Given the description of an element on the screen output the (x, y) to click on. 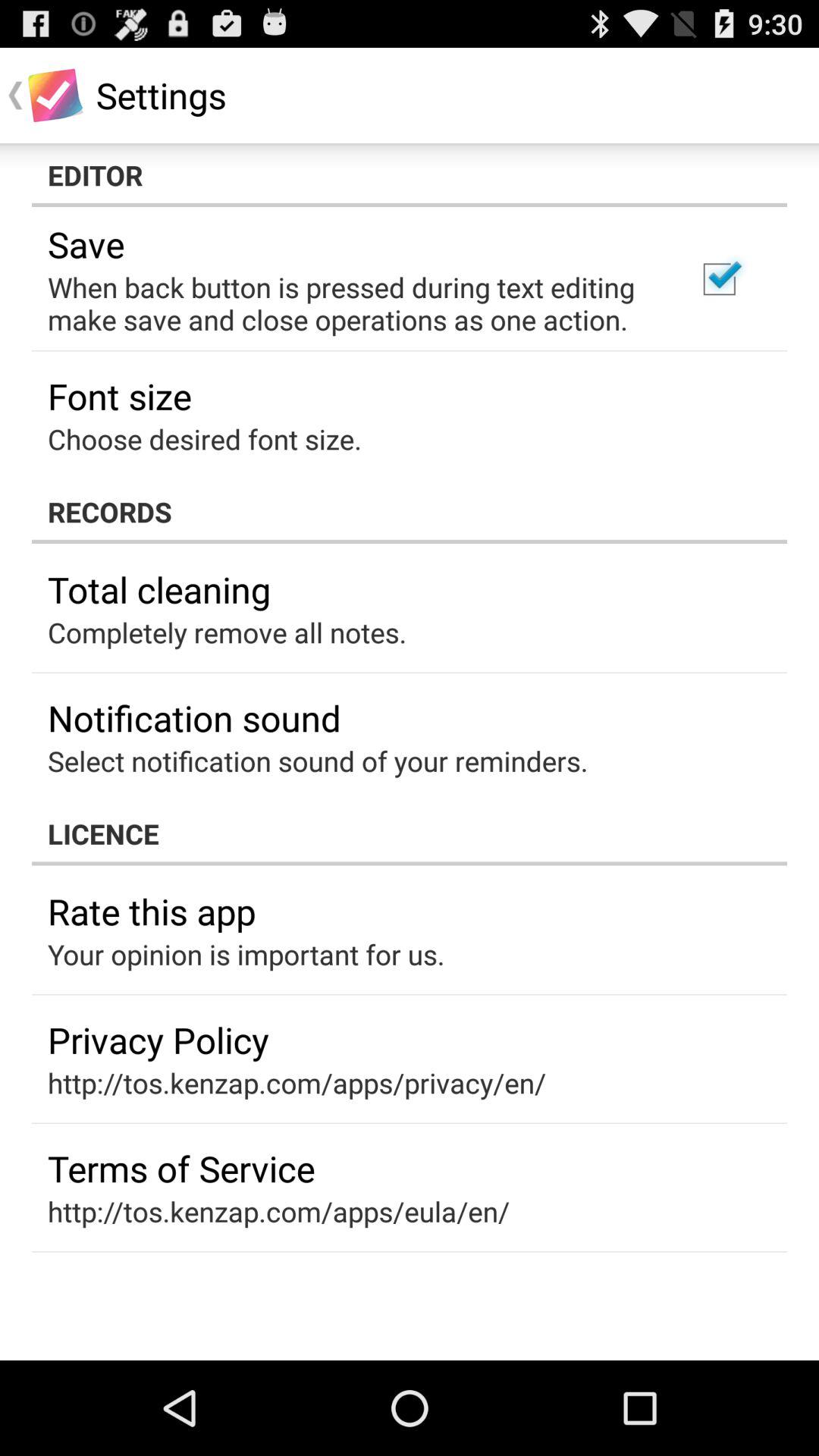
turn off icon to the right of when back button item (719, 279)
